Given the description of an element on the screen output the (x, y) to click on. 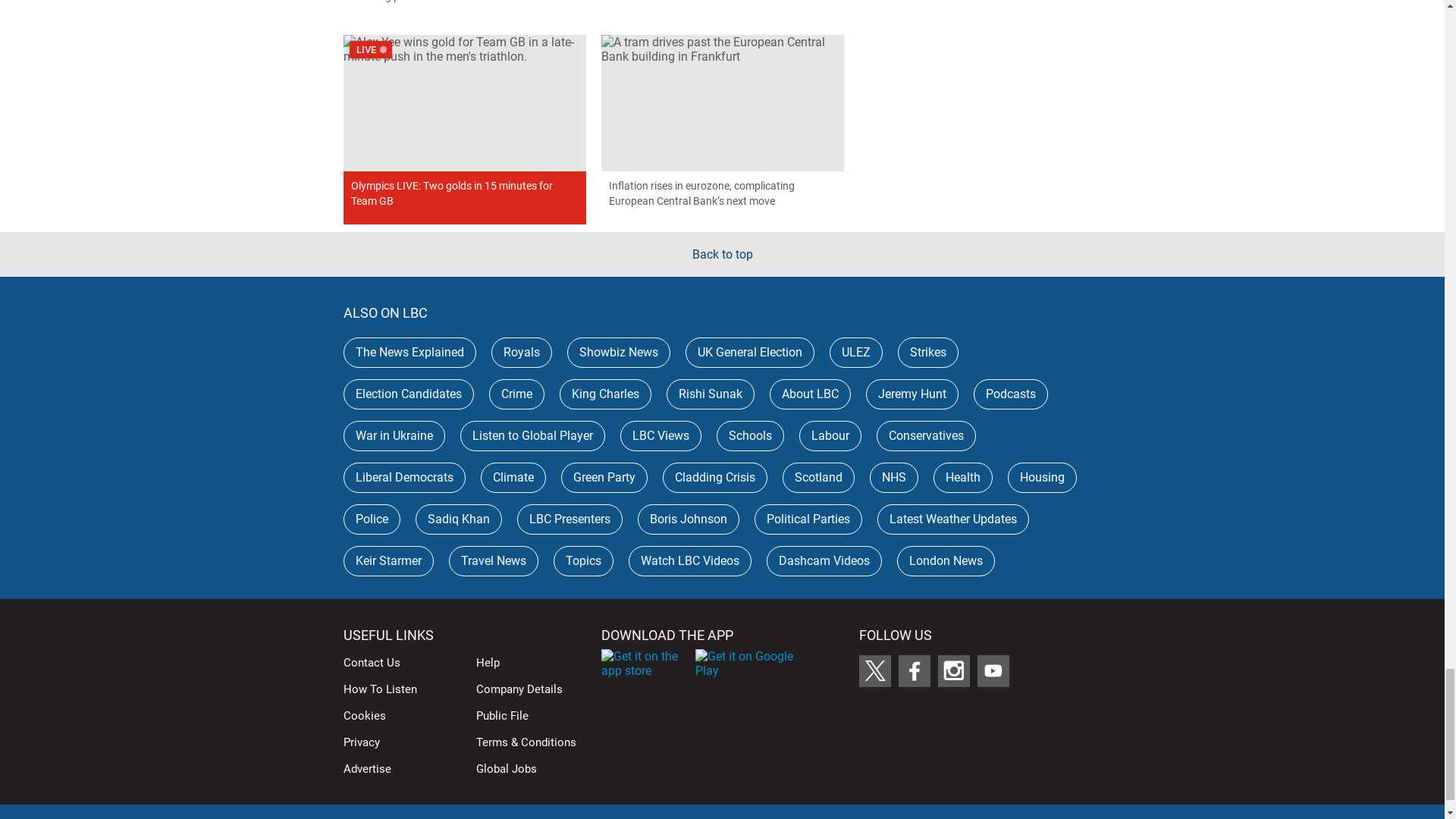
Follow LBC on X (874, 671)
Follow LBC on Instagram (953, 671)
Back to top (721, 254)
Follow LBC on Facebook (914, 671)
Follow LBC on Youtube (992, 671)
